Given the description of an element on the screen output the (x, y) to click on. 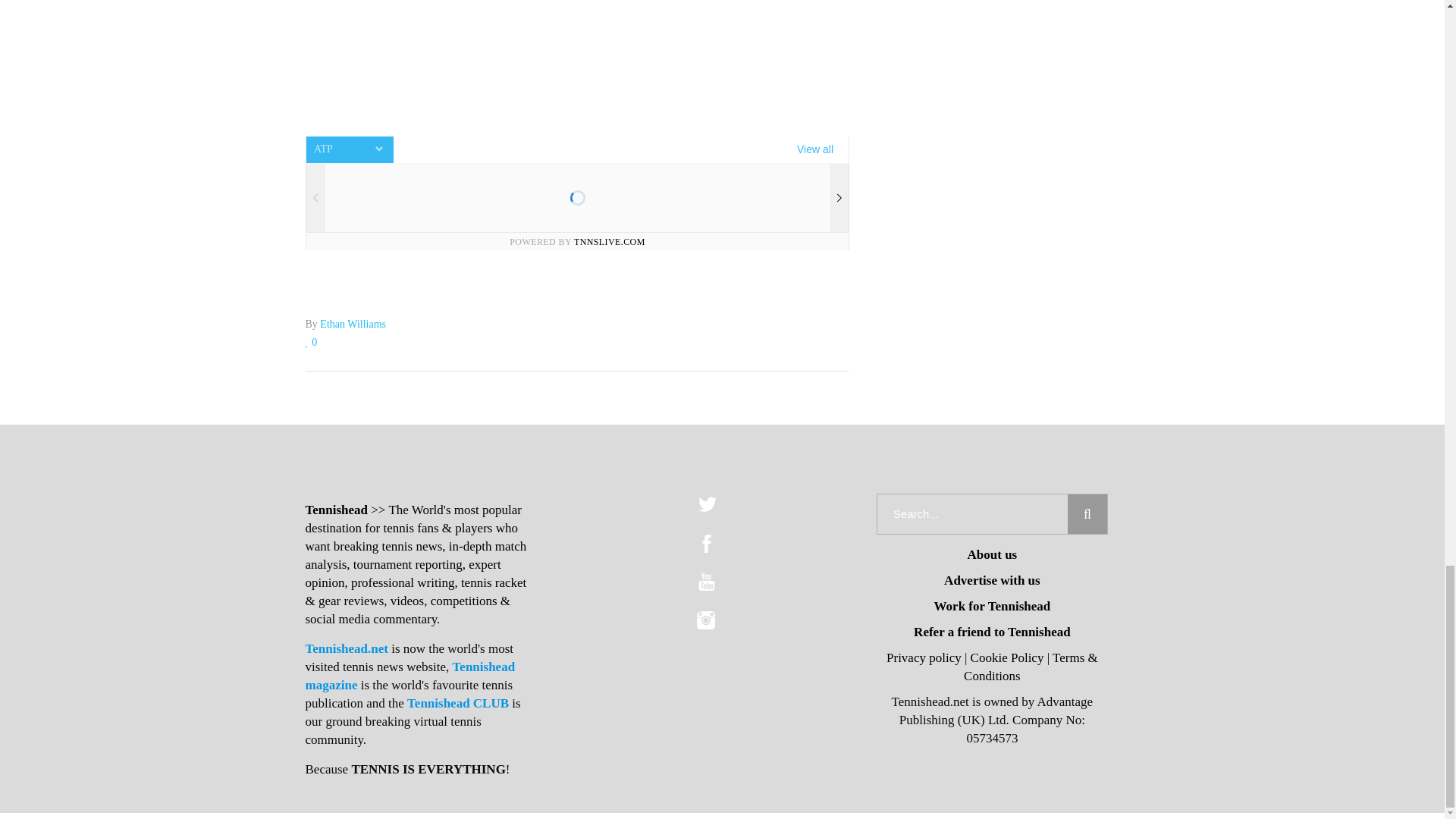
TNNS Live Scores (576, 193)
